Given the description of an element on the screen output the (x, y) to click on. 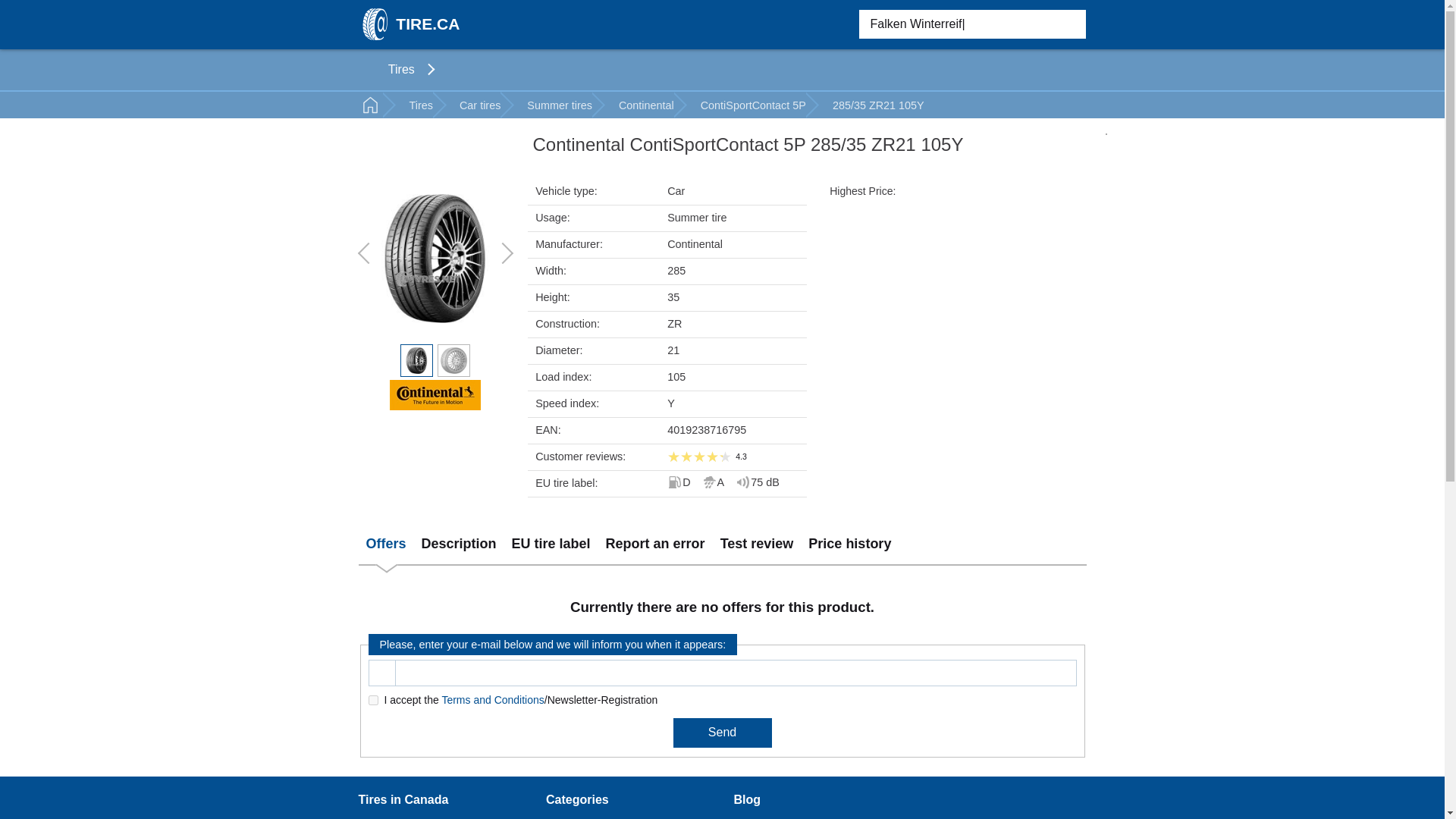
Fuel efficiency (678, 482)
Summer tires (559, 105)
ContiSportContact 5P (753, 105)
MY TIRES (811, 24)
TIRE.CA (409, 23)
Tires (402, 69)
Terms and Conditions (492, 699)
Send (721, 732)
Send (721, 732)
tire.ca (409, 23)
Tires (402, 69)
Contact us (383, 818)
Noise emission (756, 482)
Back to home (371, 104)
Car tires (480, 105)
